Given the description of an element on the screen output the (x, y) to click on. 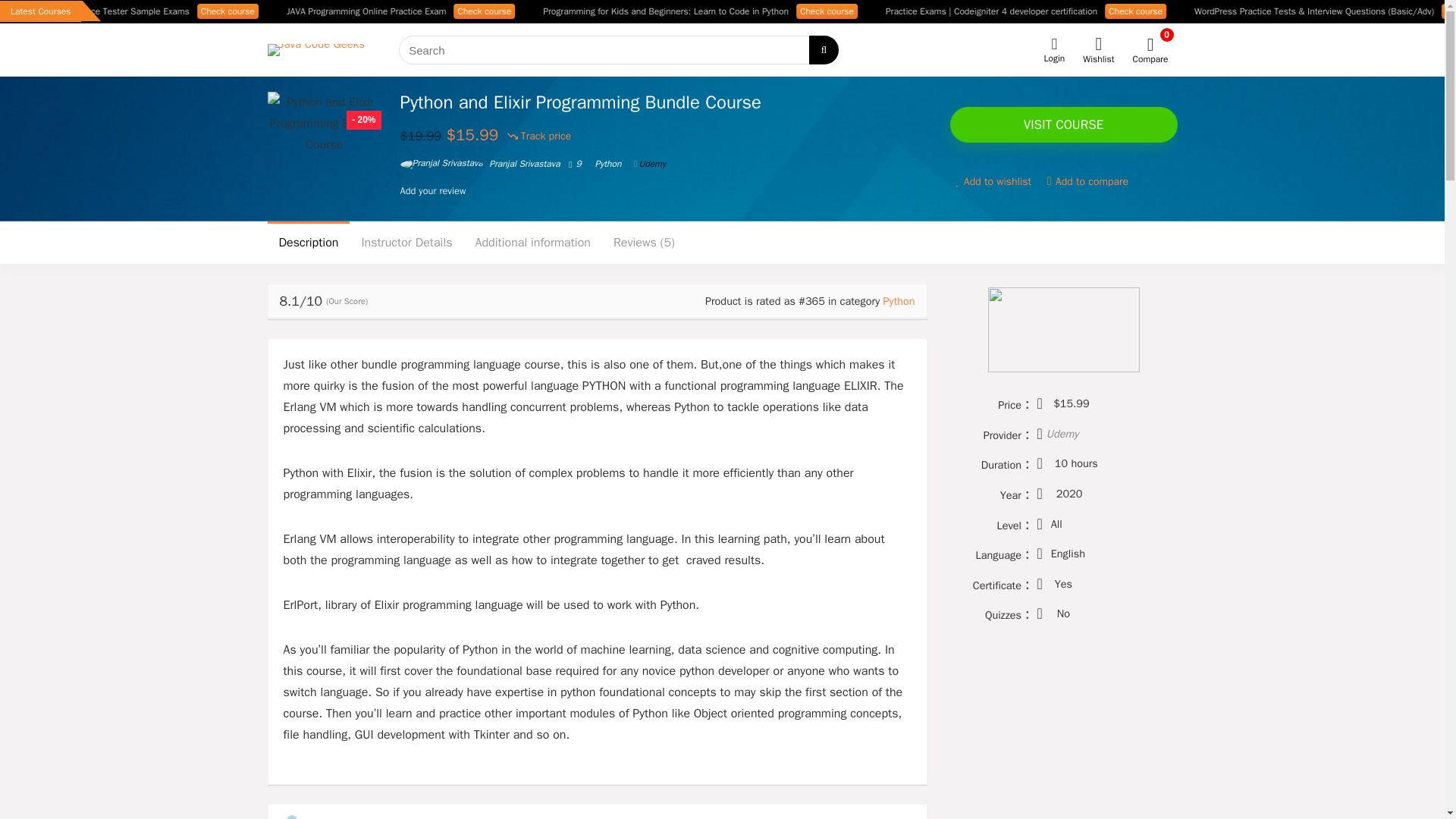
Description (307, 242)
Check course (338, 10)
Check course (937, 10)
Track price (539, 136)
Python (607, 163)
VISIT COURSE (1062, 124)
Udemy (649, 163)
Additional information (533, 242)
Check course (594, 10)
Pranjal Srivastava (480, 163)
Add your review (432, 191)
Check course (1246, 10)
Python (899, 300)
Instructor Details (406, 242)
